Given the description of an element on the screen output the (x, y) to click on. 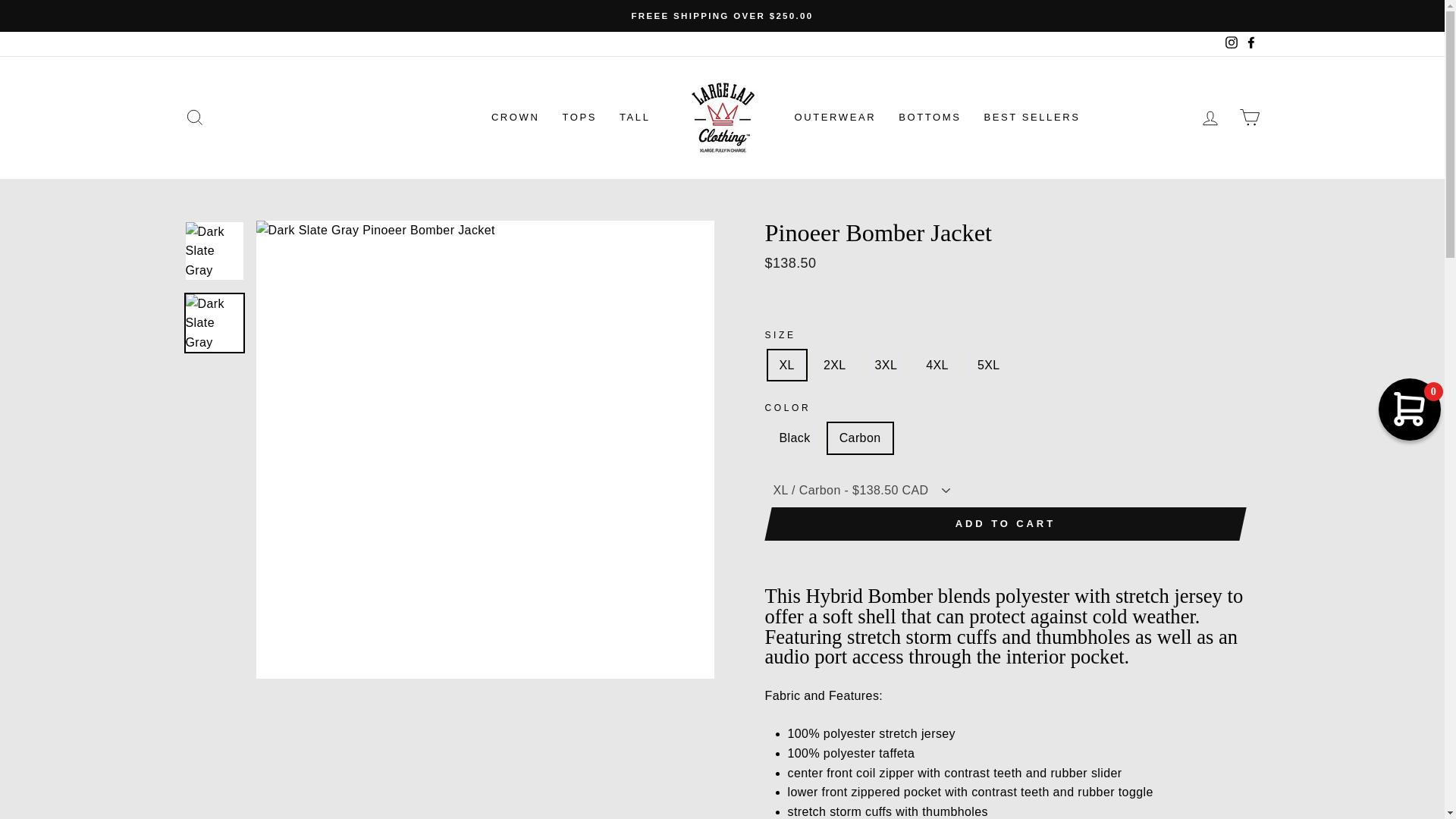
SEARCH (194, 117)
TOPS (579, 117)
CROWN (515, 117)
